Given the description of an element on the screen output the (x, y) to click on. 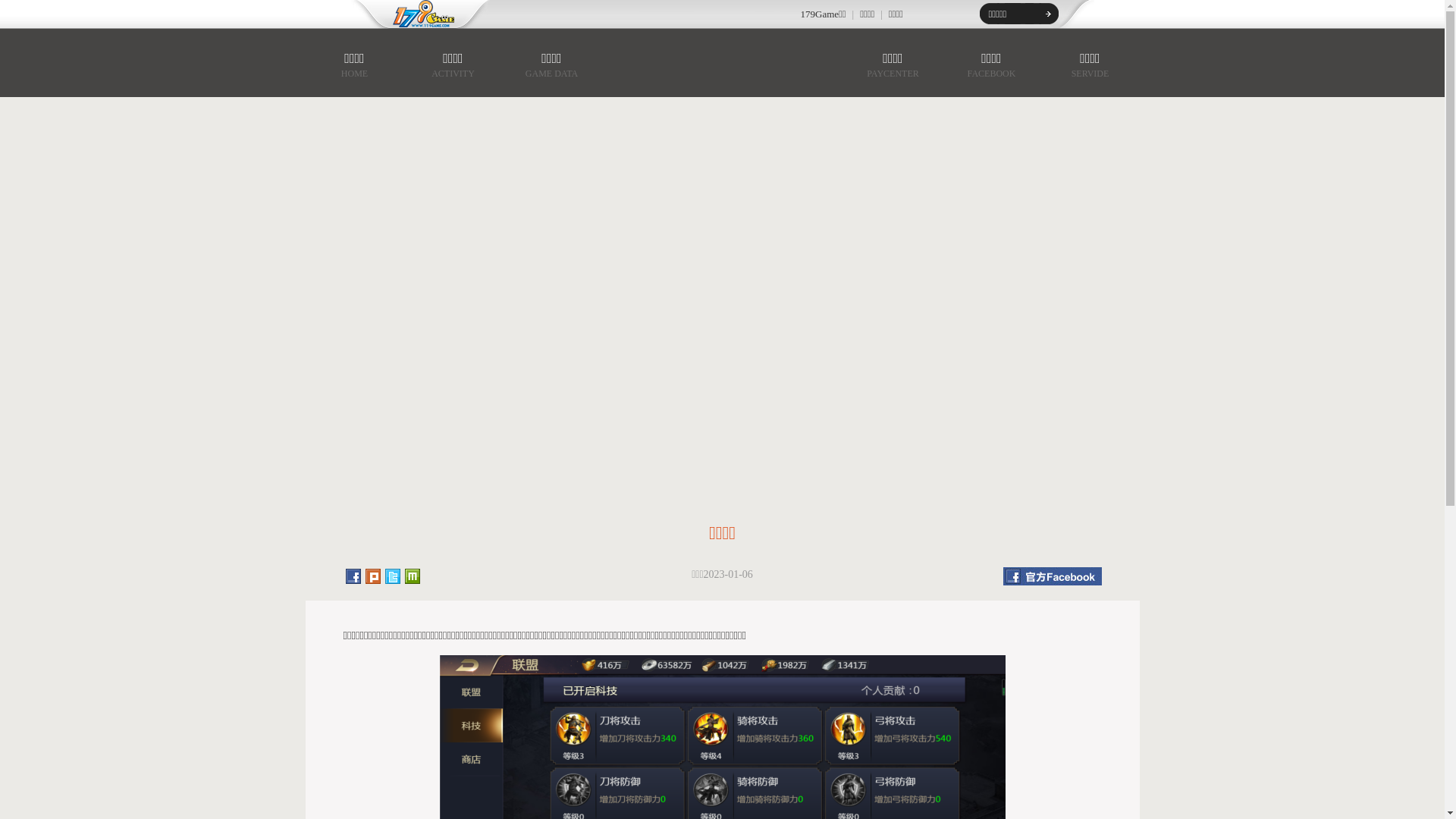
179game Element type: text (412, 14)
